Given the description of an element on the screen output the (x, y) to click on. 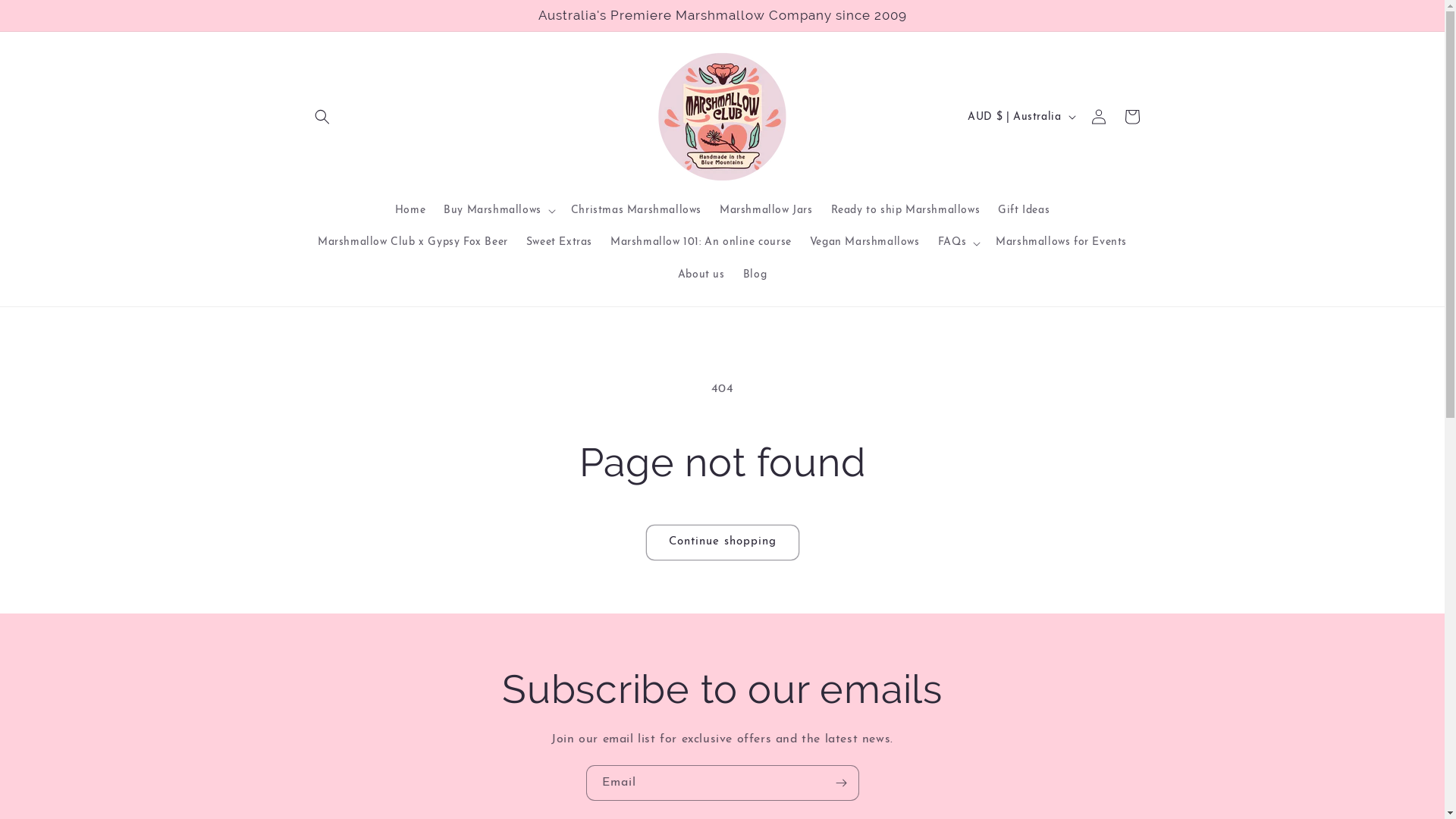
Home Element type: text (409, 210)
About us Element type: text (701, 275)
Blog Element type: text (754, 275)
Gift Ideas Element type: text (1023, 210)
Marshmallow 101: An online course Element type: text (700, 242)
Cart Element type: text (1131, 116)
Marshmallows for Events Element type: text (1060, 242)
Christmas Marshmallows Element type: text (635, 210)
Log in Element type: text (1097, 116)
Sweet Extras Element type: text (559, 242)
Ready to ship Marshmallows Element type: text (905, 210)
Marshmallow Jars Element type: text (766, 210)
AUD $ | Australia Element type: text (1019, 116)
Marshmallow Club x Gypsy Fox Beer Element type: text (412, 242)
Continue shopping Element type: text (722, 542)
Vegan Marshmallows Element type: text (864, 242)
